Given the description of an element on the screen output the (x, y) to click on. 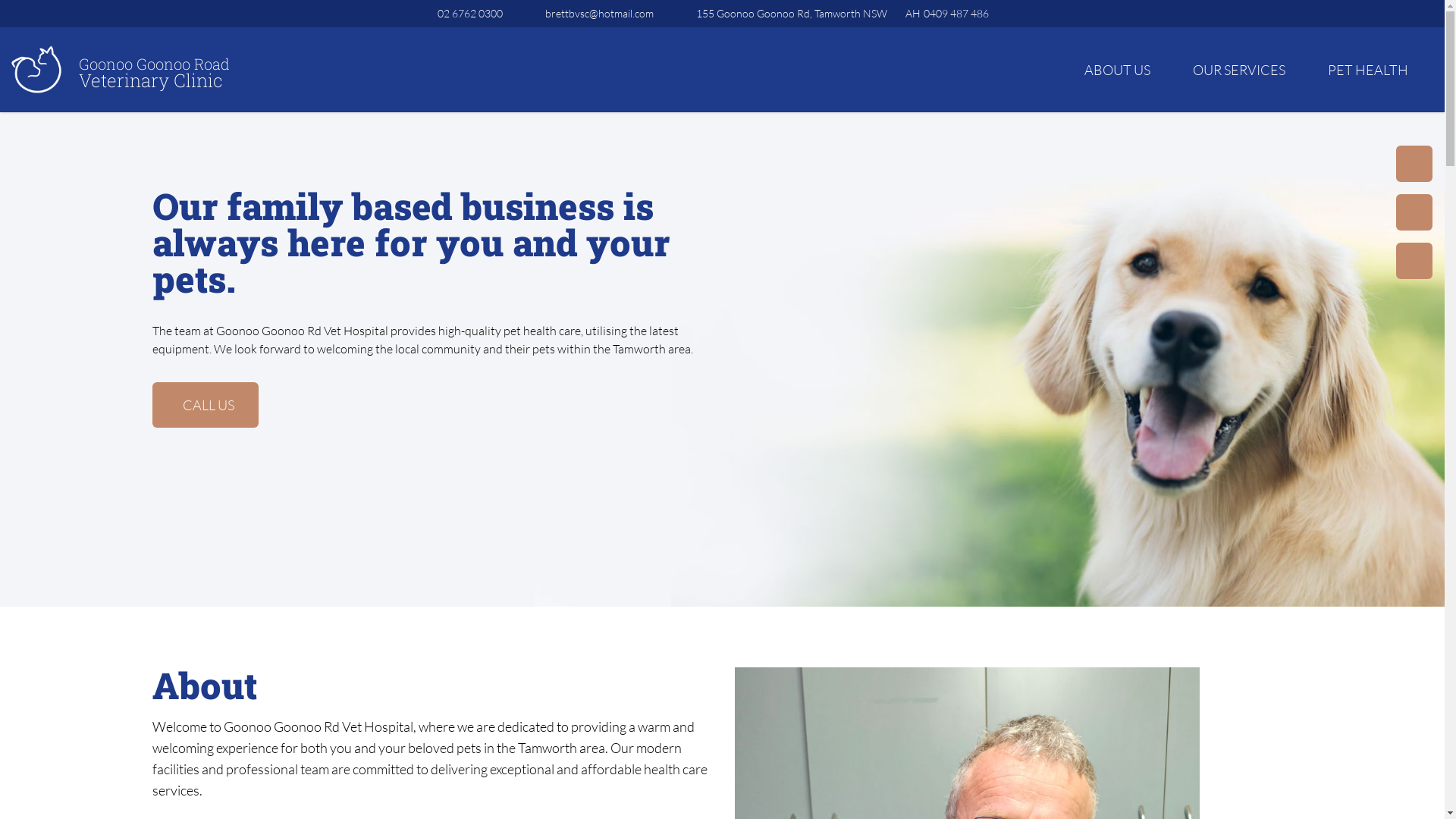
02 6762 0300 Element type: text (479, 13)
155 Goonoo Goonoo Rd, Tamworth NSW Element type: text (788, 13)
ABOUT US Element type: text (1117, 70)
PET HEALTH Element type: text (1367, 69)
CALL US Element type: text (204, 404)
CALL US Element type: text (210, 404)
AH
0409 487 486 Element type: text (956, 13)
OUR SERVICES Element type: text (1238, 69)
ABOUT US Element type: text (1117, 69)
brettbvsc@hotmail.com Element type: text (608, 13)
